Given the description of an element on the screen output the (x, y) to click on. 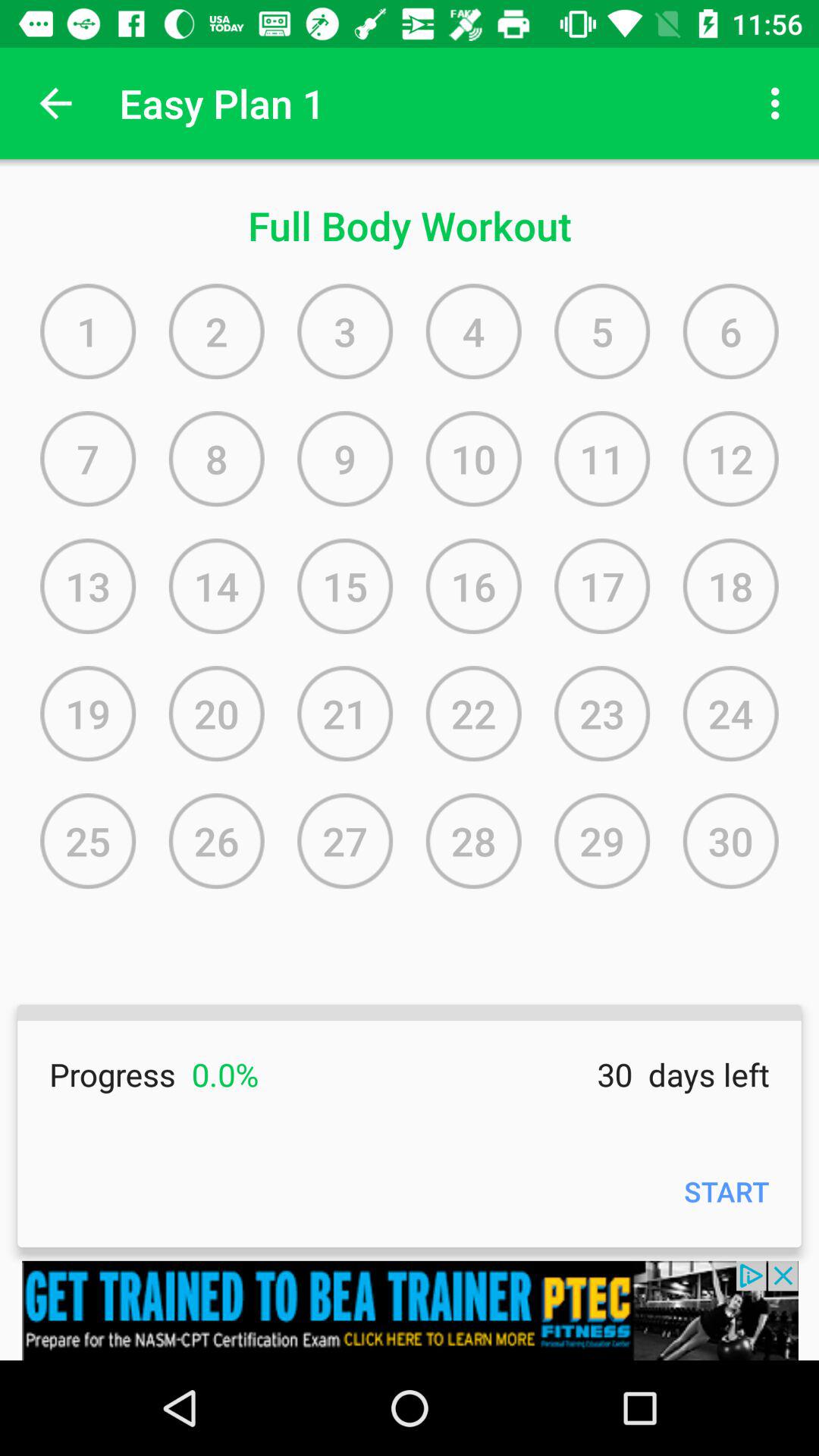
open advertisement (409, 1310)
